Given the description of an element on the screen output the (x, y) to click on. 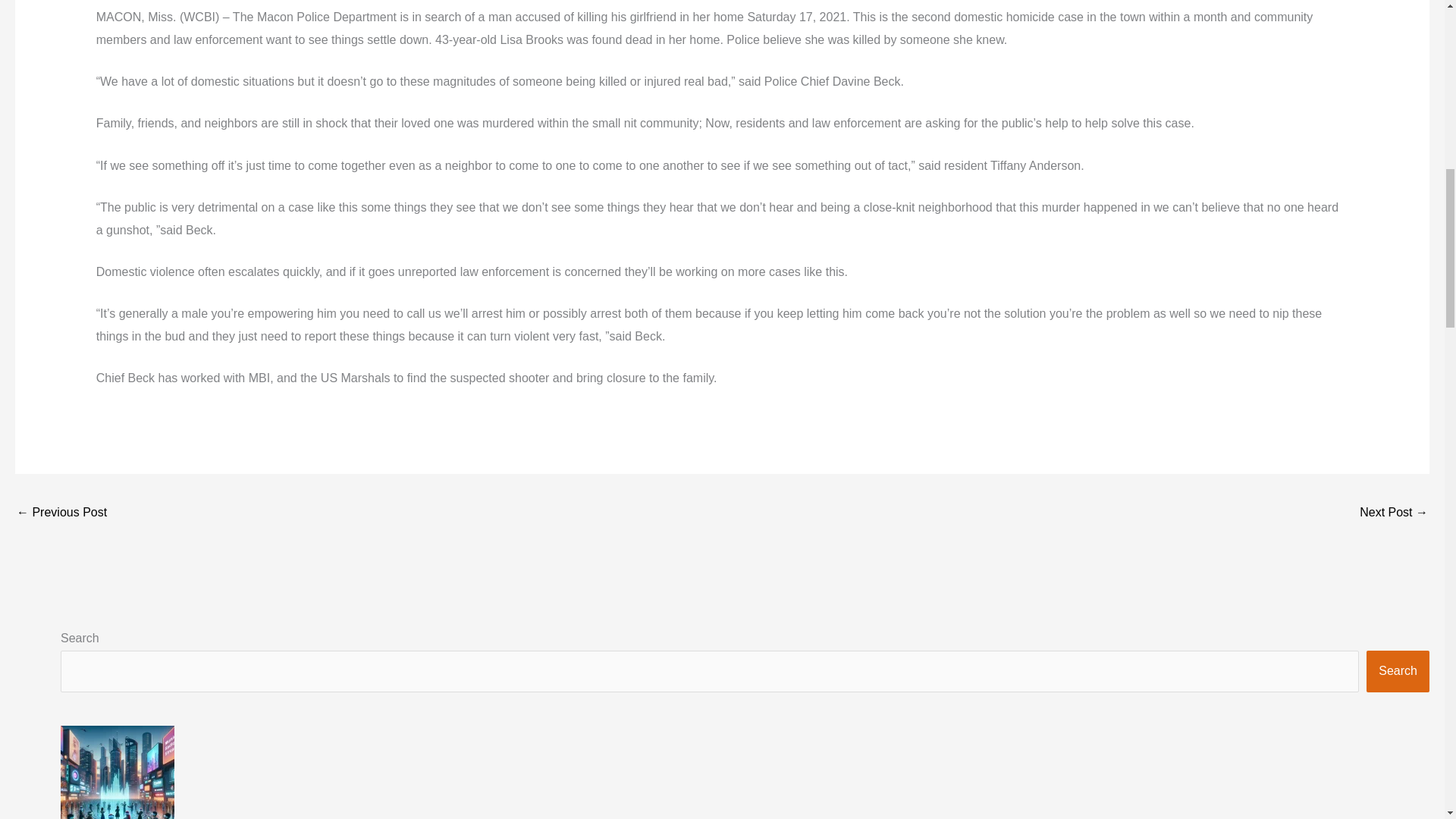
Search (1398, 670)
Carrier Ford finishes first planned incremental availability (61, 513)
